Given the description of an element on the screen output the (x, y) to click on. 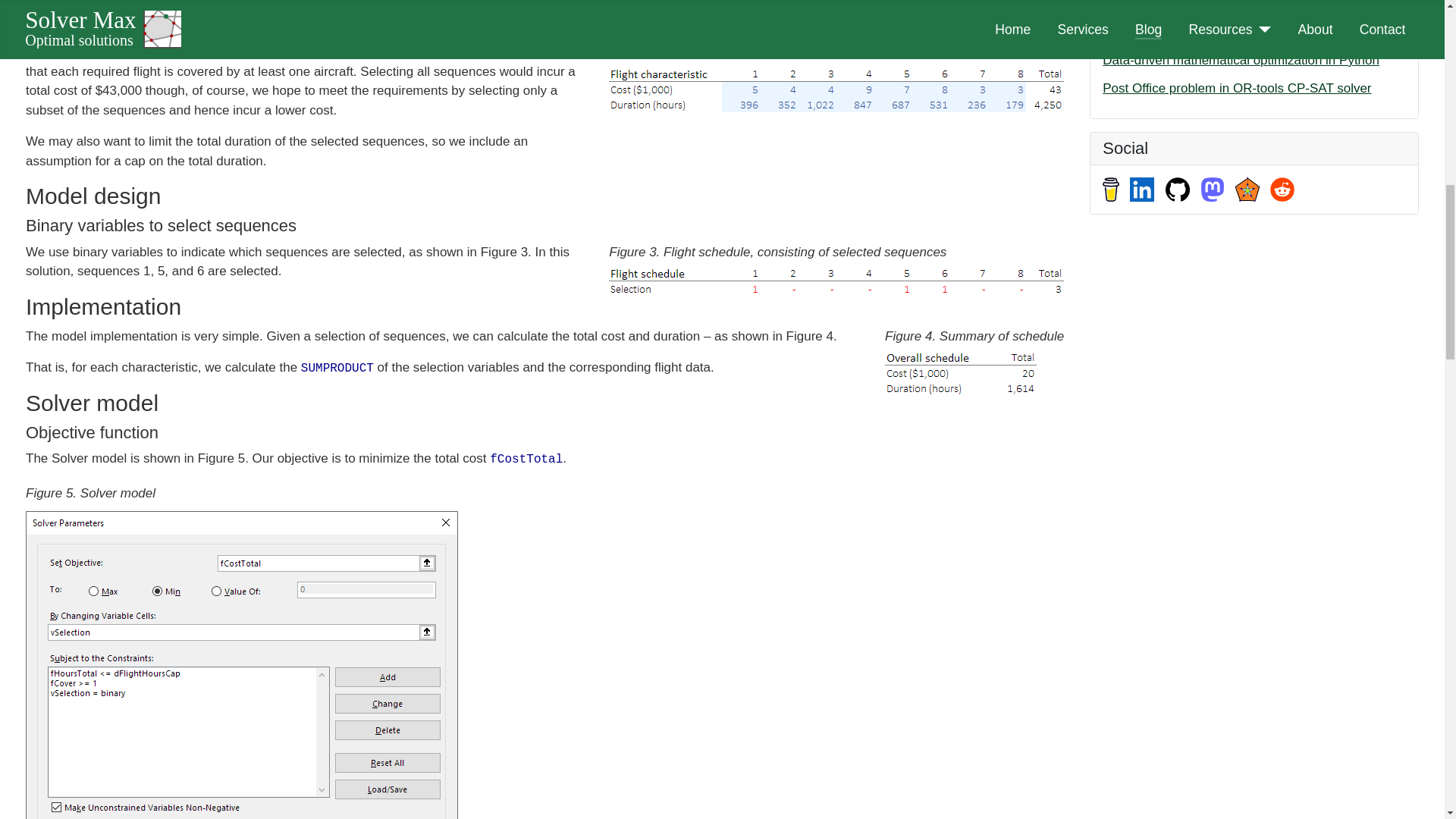
Reddit Optimization (1281, 189)
Summary of schedule (960, 372)
Discord Operations Research (1246, 189)
GitHub (1177, 189)
Flight flightcharacteristics (836, 90)
Mastodon (1211, 189)
LinkedIn (1141, 189)
Flight schedule (836, 282)
Solver dialog (242, 665)
